Given the description of an element on the screen output the (x, y) to click on. 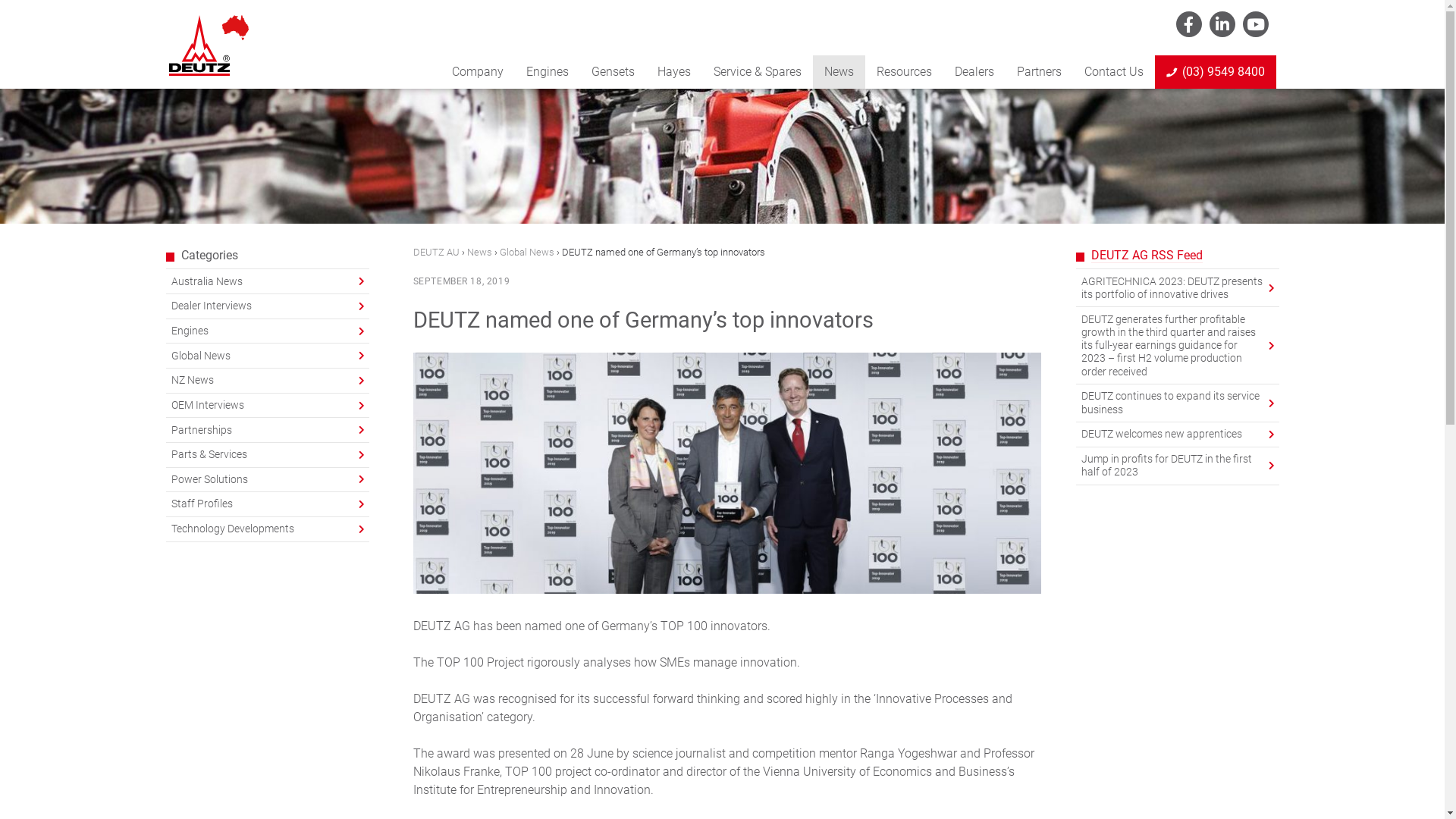
DEUTZ AG RSS Feed Element type: text (1145, 255)
Engines Element type: text (266, 331)
Jump in profits for DEUTZ in the first half of 2023 Element type: text (1176, 465)
NZ News Element type: text (266, 380)
Connect with us on LinkedIn Element type: hover (1221, 24)
OEM Interviews Element type: text (266, 405)
DEUTZ AU Element type: text (435, 251)
Hayes Element type: text (674, 71)
Engines Element type: text (546, 71)
(03) 9549 8400 Element type: text (1214, 71)
News Element type: text (479, 251)
Dealers Element type: text (974, 71)
Staff Profiles Element type: text (266, 504)
Power Solutions Element type: text (266, 479)
Technology Developments Element type: text (266, 529)
Gensets Element type: text (612, 71)
Global News Element type: text (266, 355)
Company Element type: text (476, 71)
Dealer Interviews Element type: text (266, 306)
DEUTZ continues to expand its service business Element type: text (1176, 402)
Australia News Element type: text (266, 281)
Service & Spares Element type: text (757, 71)
Global News Element type: text (525, 251)
Subscribe to our Facebook channel Element type: hover (1254, 24)
Partners Element type: text (1039, 71)
Parts & Services Element type: text (266, 454)
News Element type: text (838, 71)
DEUTZ welcomes new apprentices Element type: text (1176, 434)
Partnerships Element type: text (266, 429)
Follow us on Facebook Element type: hover (1188, 24)
Resources Element type: text (903, 71)
Contact Us Element type: text (1113, 71)
